Given the description of an element on the screen output the (x, y) to click on. 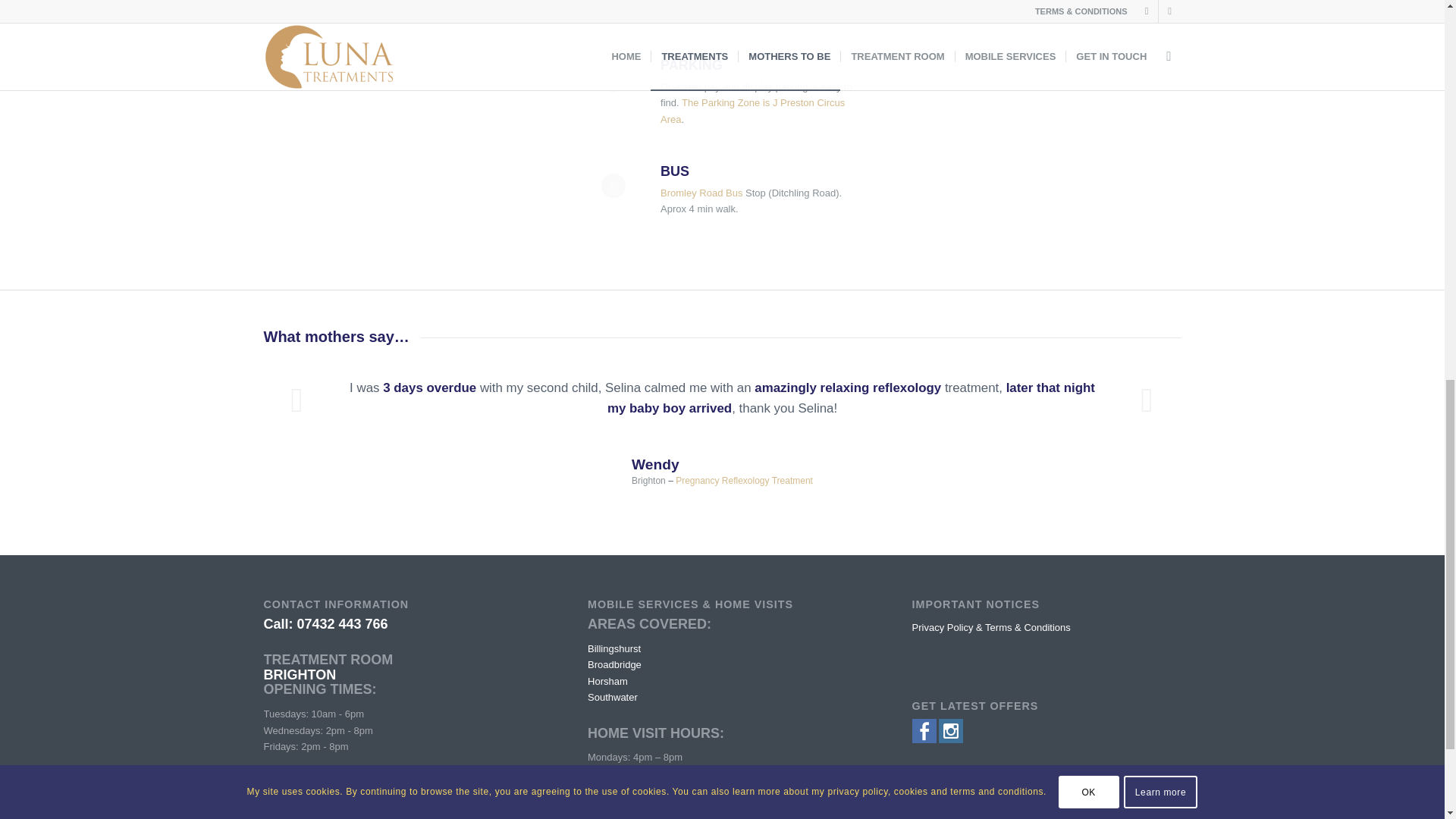
Bus (674, 171)
Facebook (924, 739)
Instagram (950, 739)
Parking  (691, 64)
